Given the description of an element on the screen output the (x, y) to click on. 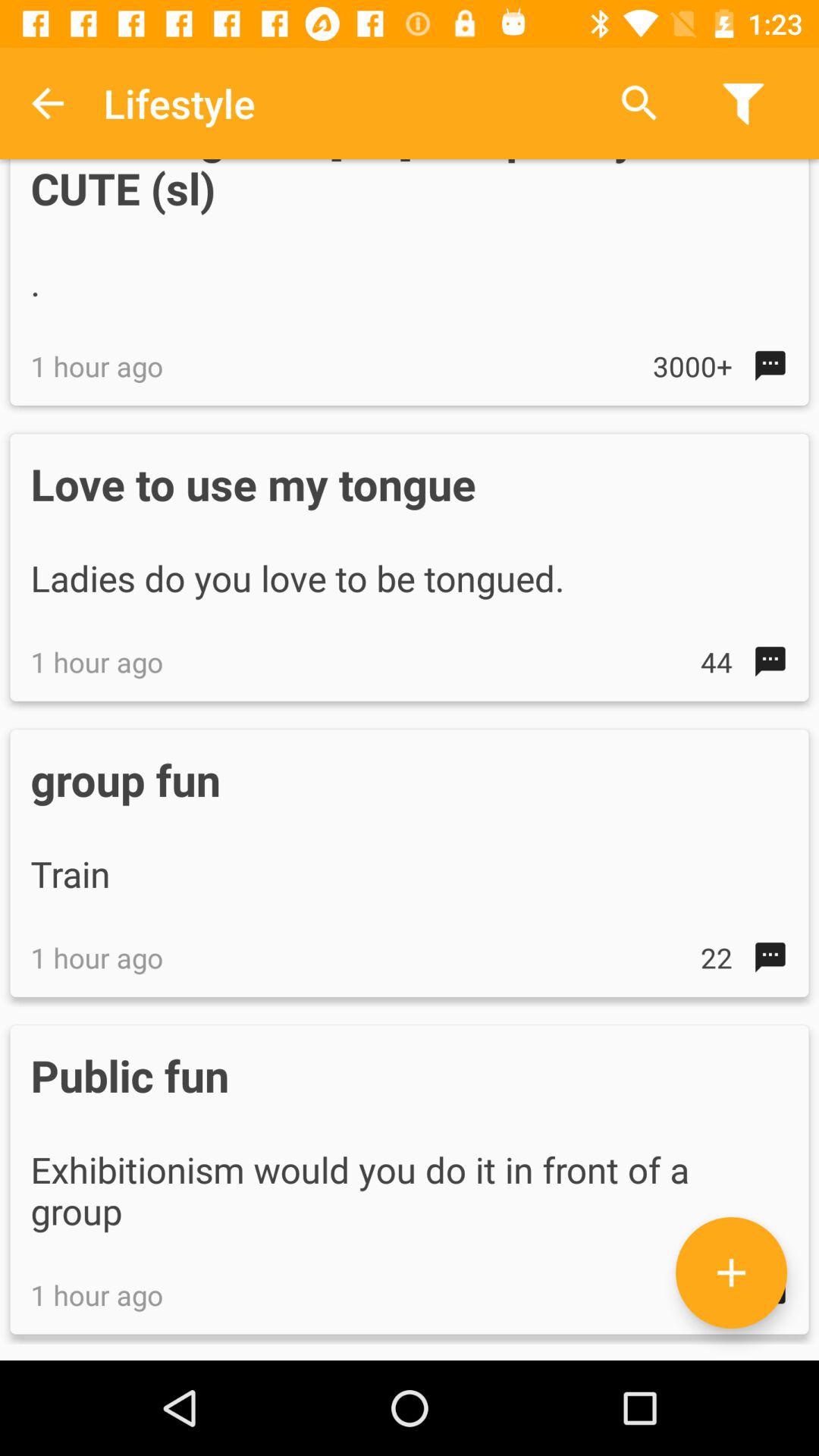
turn off the icon to the left of lifestyle app (47, 103)
